Given the description of an element on the screen output the (x, y) to click on. 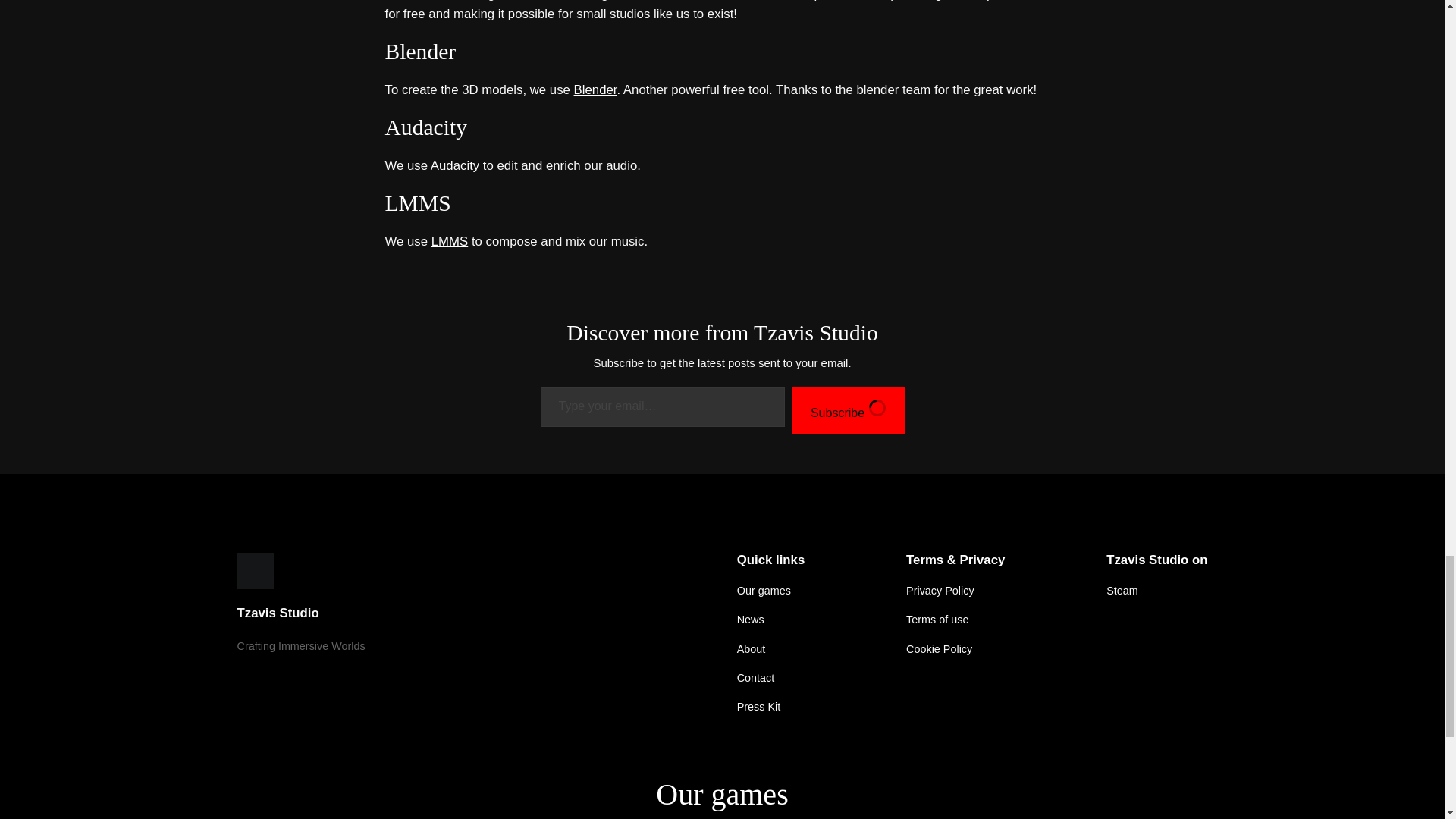
Epic Game (836, 0)
News (750, 619)
Unreal Engine 5 (476, 0)
About (750, 647)
Steam (1122, 590)
Our games (763, 590)
Contact (755, 677)
Audacity (454, 165)
LMMS (448, 241)
Privacy Policy (939, 590)
